Given the description of an element on the screen output the (x, y) to click on. 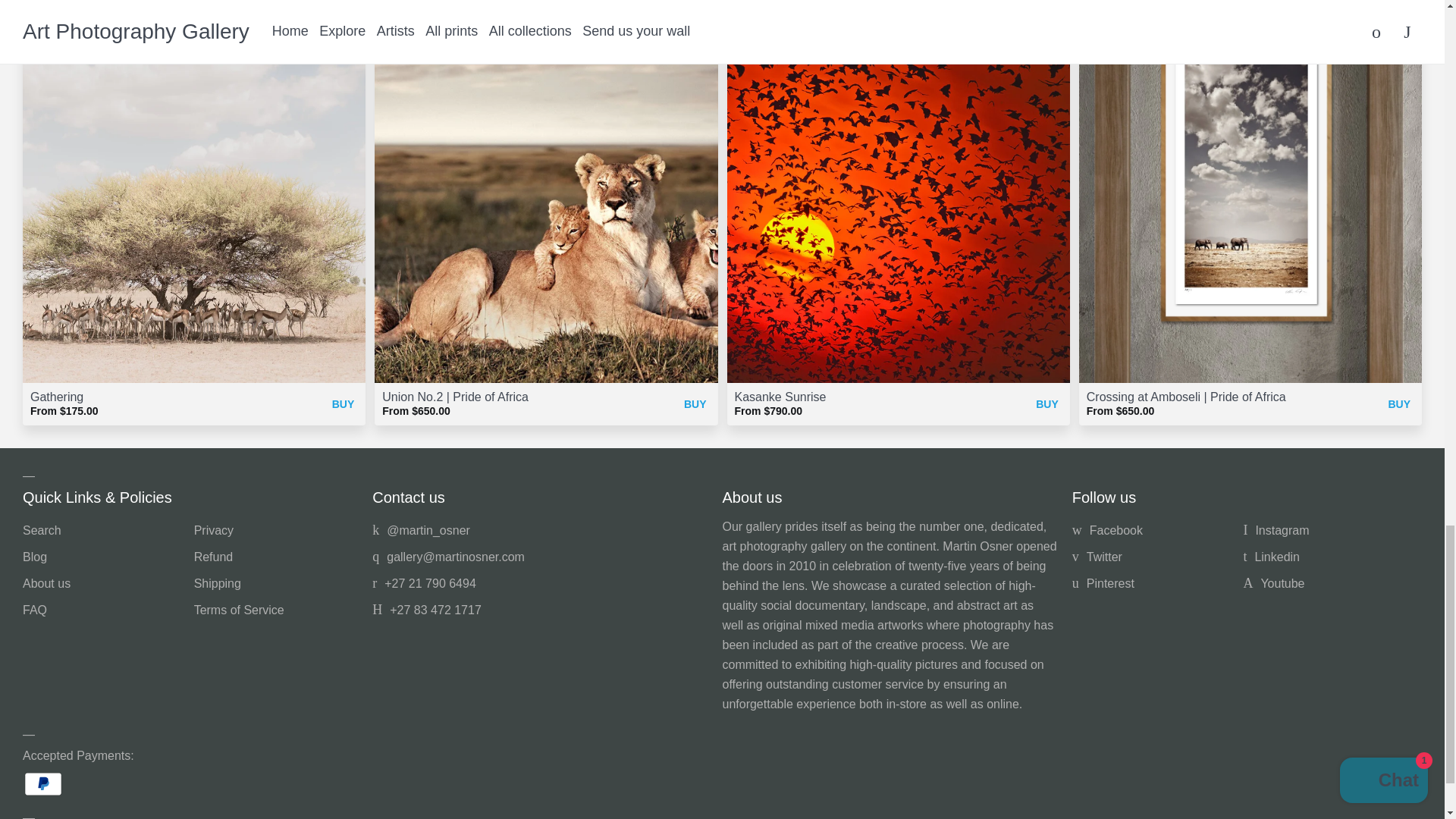
Art Photography Gallery on Twitter (421, 530)
Art Photography Gallery on Pinterest (1102, 583)
Art Photography Gallery on Linkedin (1271, 556)
Art Photography Gallery on Instagram (1275, 530)
Art Photography Gallery on Youtube (1273, 583)
Art Photography Gallery on Twitter (1096, 556)
Art Photography Gallery on Facebook (1106, 530)
